Given the description of an element on the screen output the (x, y) to click on. 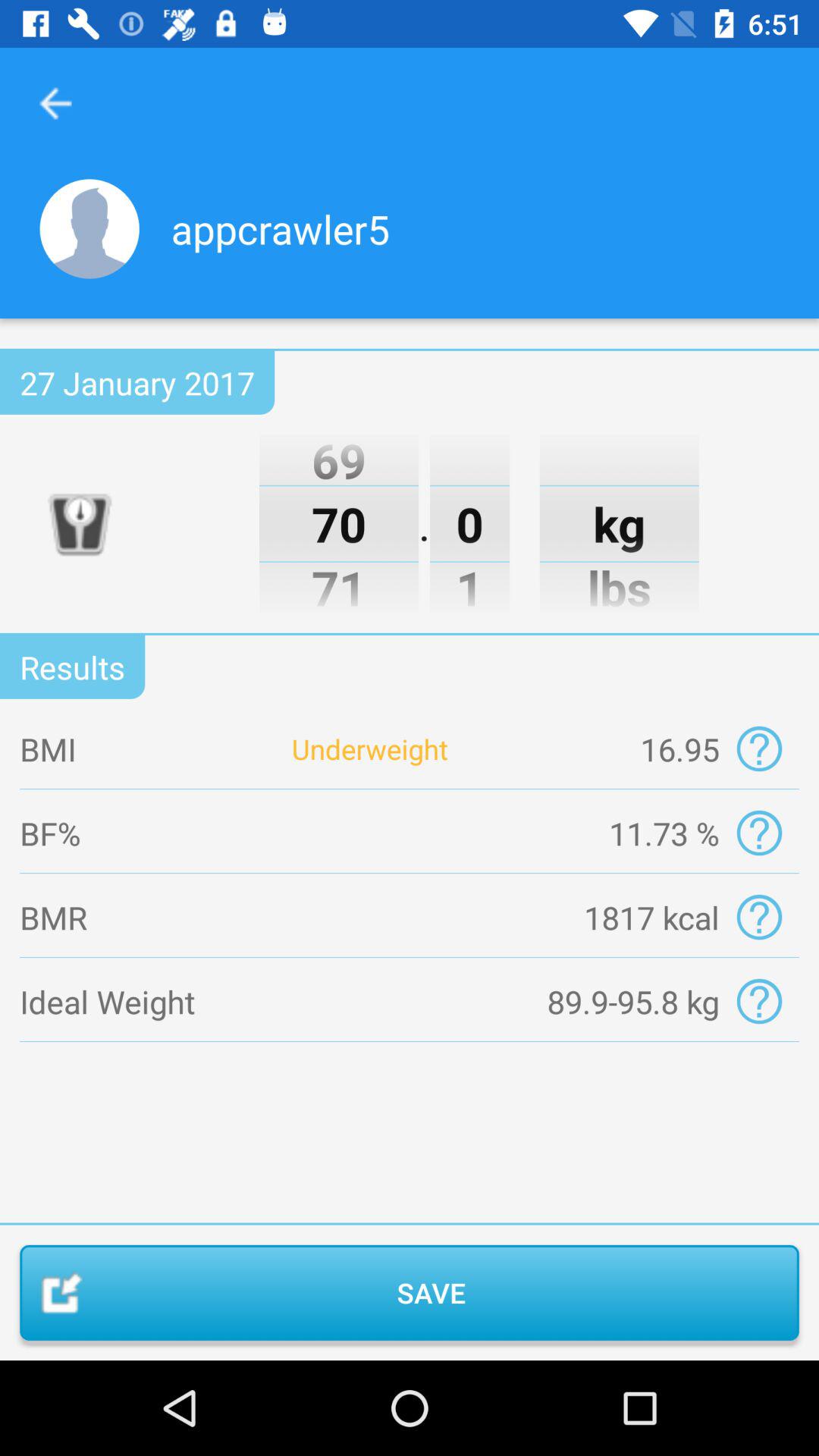
explain bmi (759, 748)
